Given the description of an element on the screen output the (x, y) to click on. 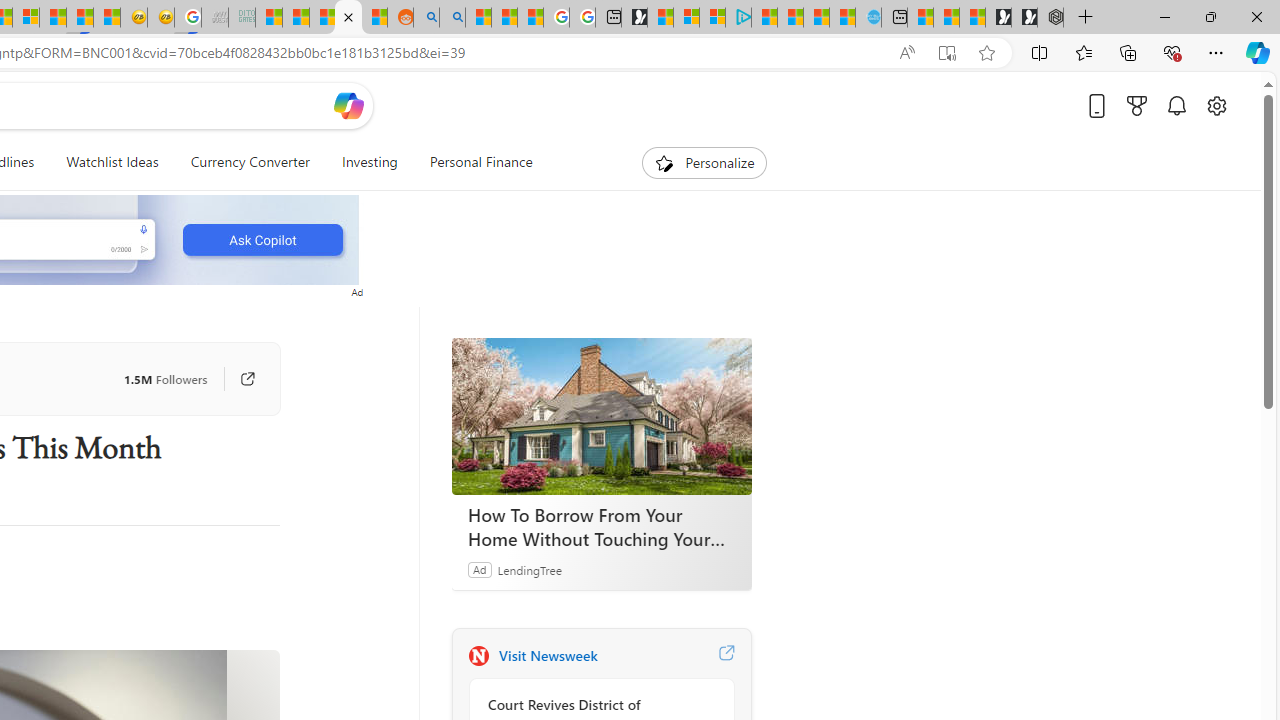
Watchlist Ideas (112, 162)
